Given the description of an element on the screen output the (x, y) to click on. 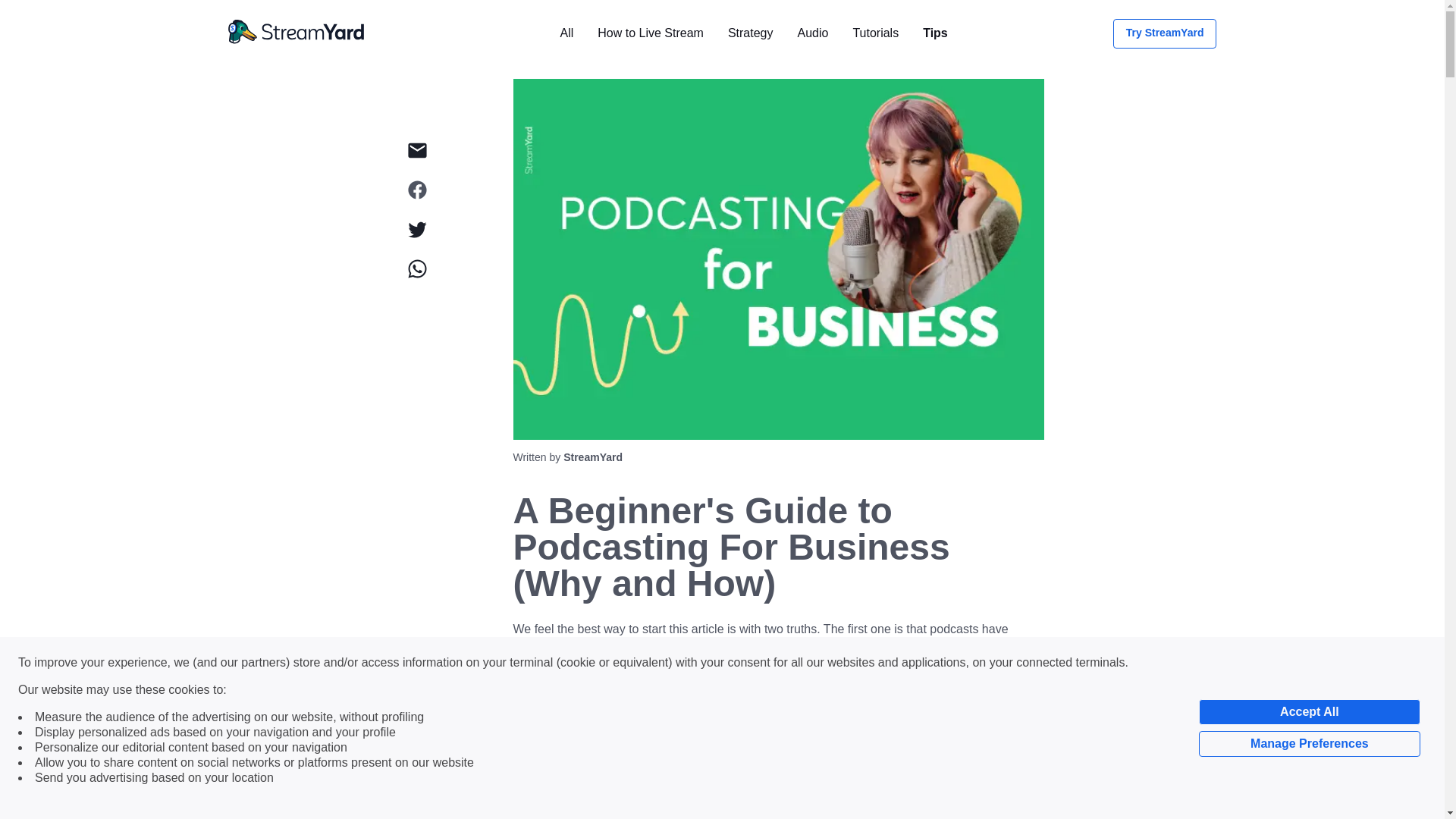
Try StreamYard (1165, 32)
Tutorials (874, 32)
All (566, 32)
How to Live Stream (649, 32)
Audio (812, 32)
2,600,000 (539, 665)
favorite tool (769, 674)
Tips (935, 32)
podcasts (663, 719)
Manage Preferences (1309, 743)
Strategy (750, 32)
Accept All (1309, 711)
